Given the description of an element on the screen output the (x, y) to click on. 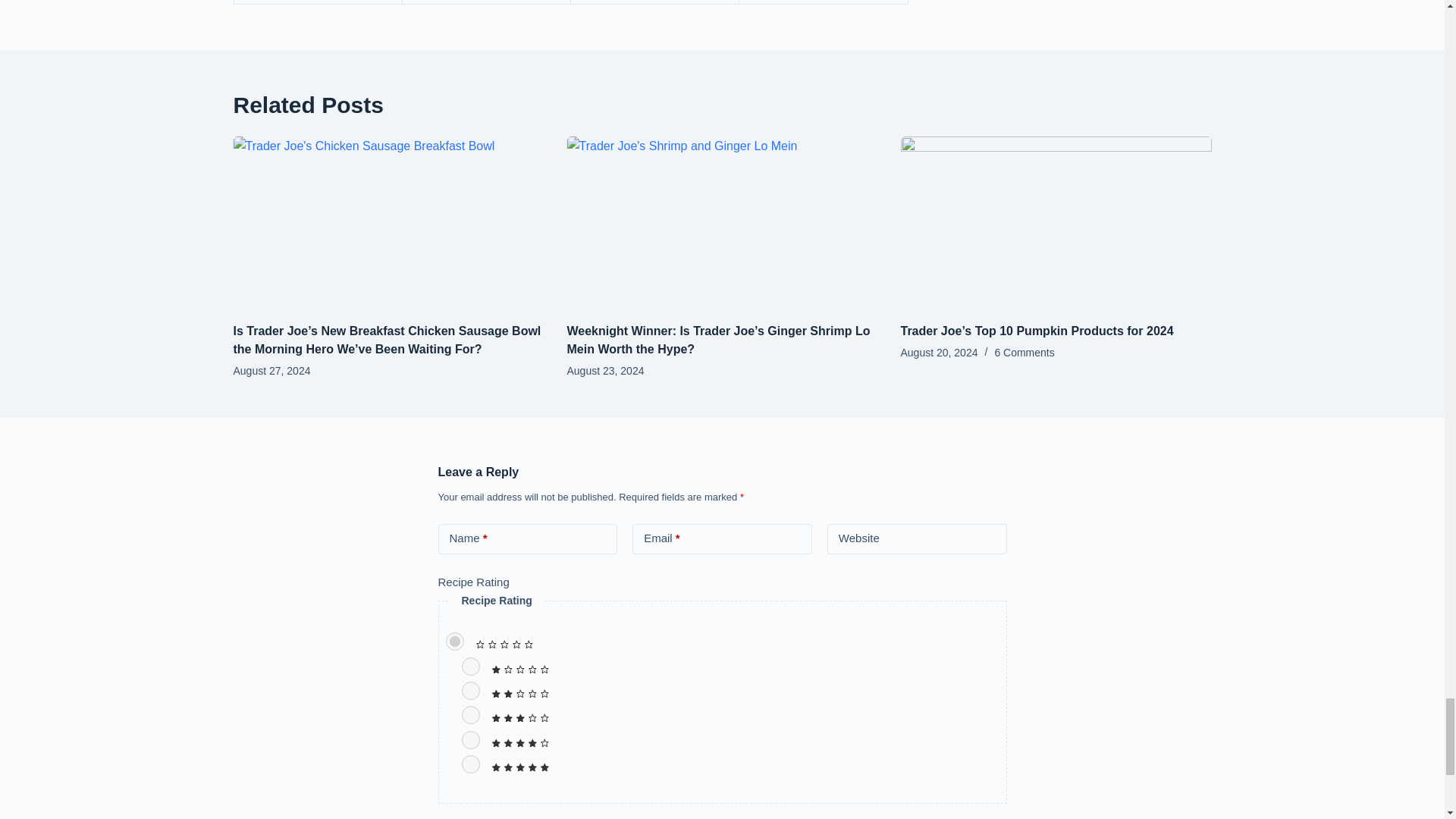
0 (454, 641)
3 (470, 714)
2 (470, 690)
1 (470, 666)
4 (470, 740)
5 (470, 764)
